Given the description of an element on the screen output the (x, y) to click on. 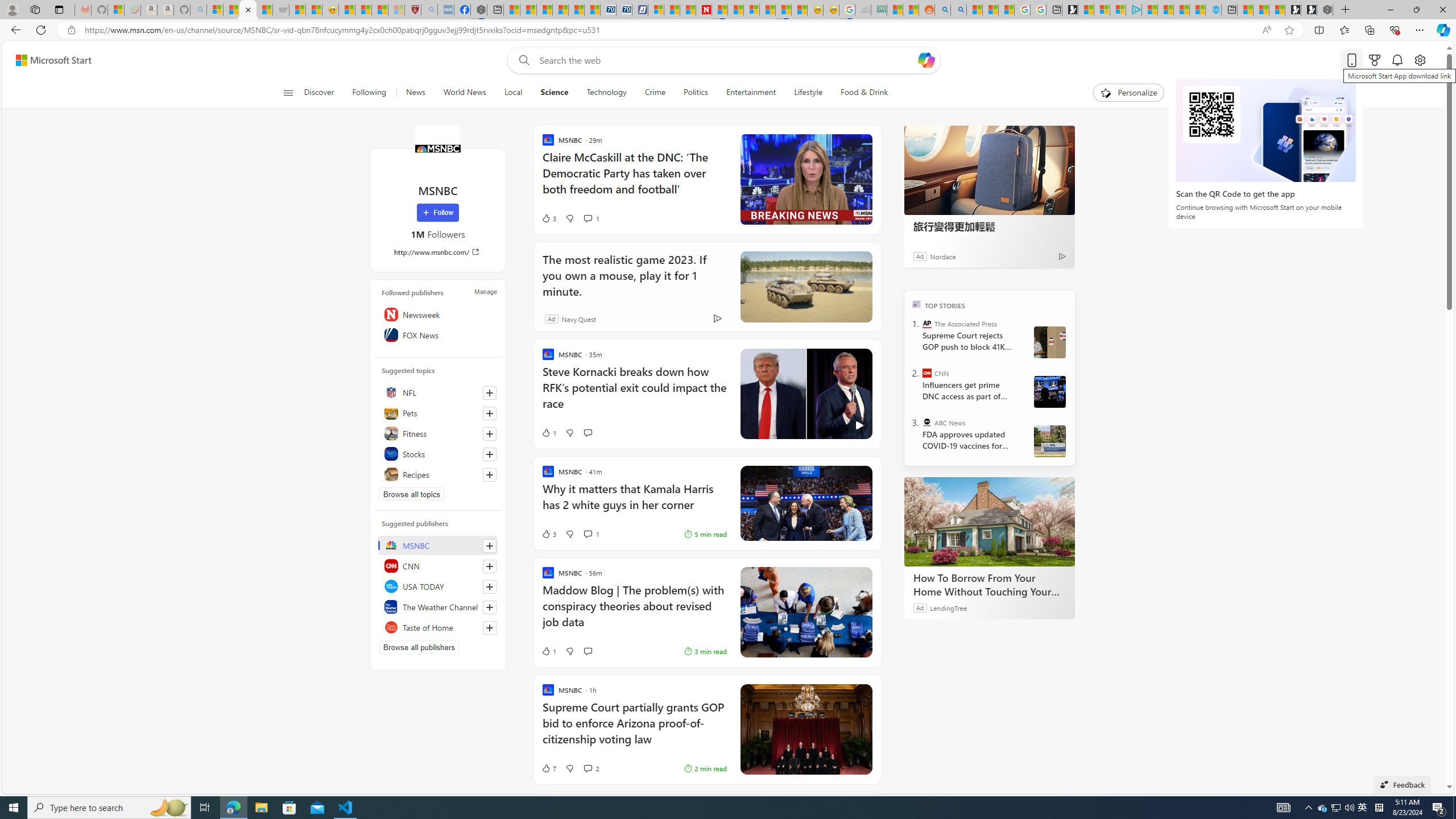
Taste of Home (437, 627)
Fitness (437, 433)
Newsweek - News, Analysis, Politics, Business, Technology (703, 9)
Follow this topic (489, 474)
Class: hero-image (805, 393)
The Associated Press (927, 323)
View comments 2 Comment (591, 768)
